Given the description of an element on the screen output the (x, y) to click on. 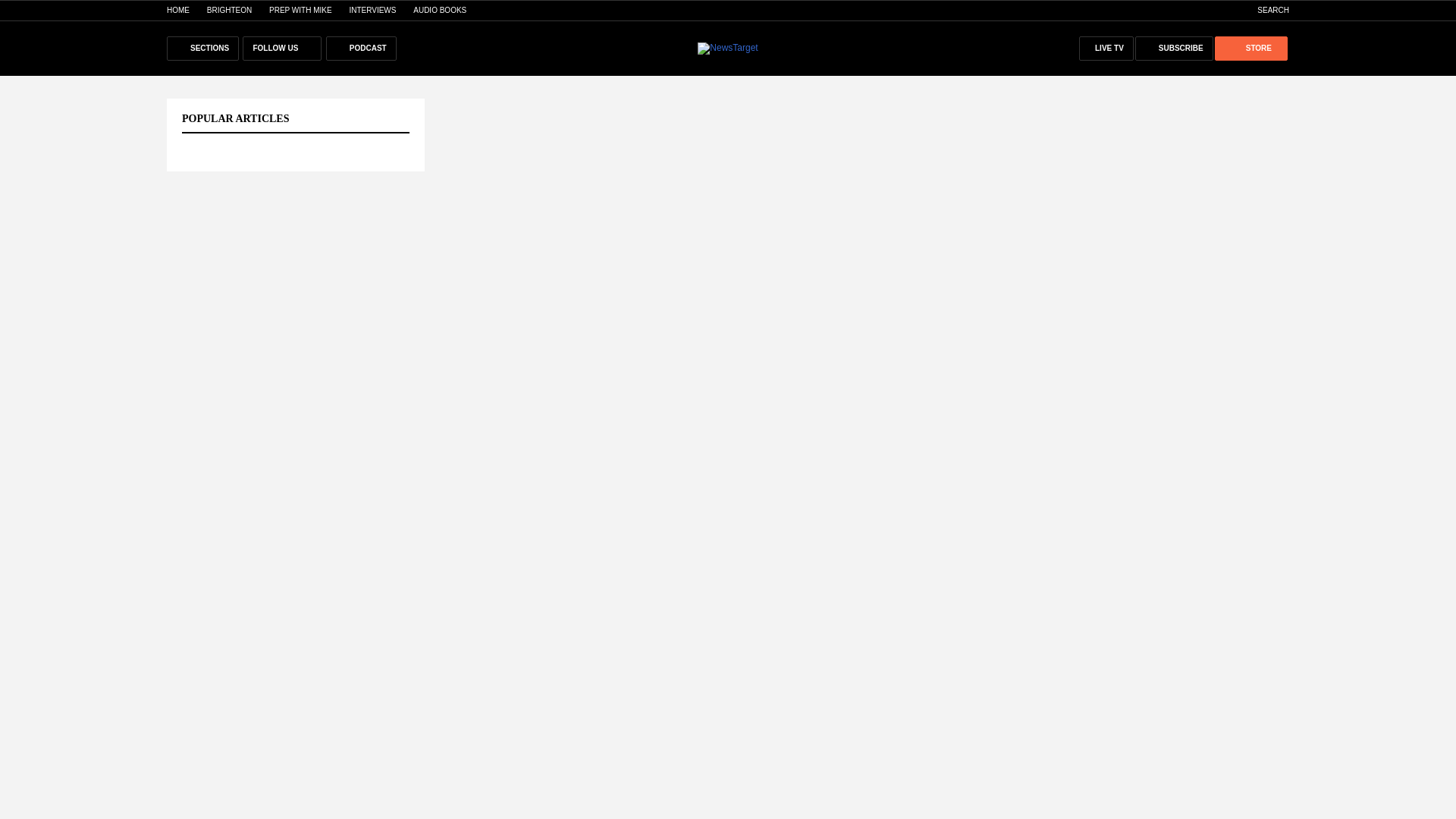
PREP WITH MIKE (300, 9)
STORE (1250, 48)
AUDIO BOOKS (439, 9)
BRIGHTEON (228, 9)
HOME (178, 9)
SEARCH (1264, 9)
LIVE TV (1106, 48)
PODCAST (361, 48)
INTERVIEWS (372, 9)
SUBSCRIBE (1173, 48)
